Given the description of an element on the screen output the (x, y) to click on. 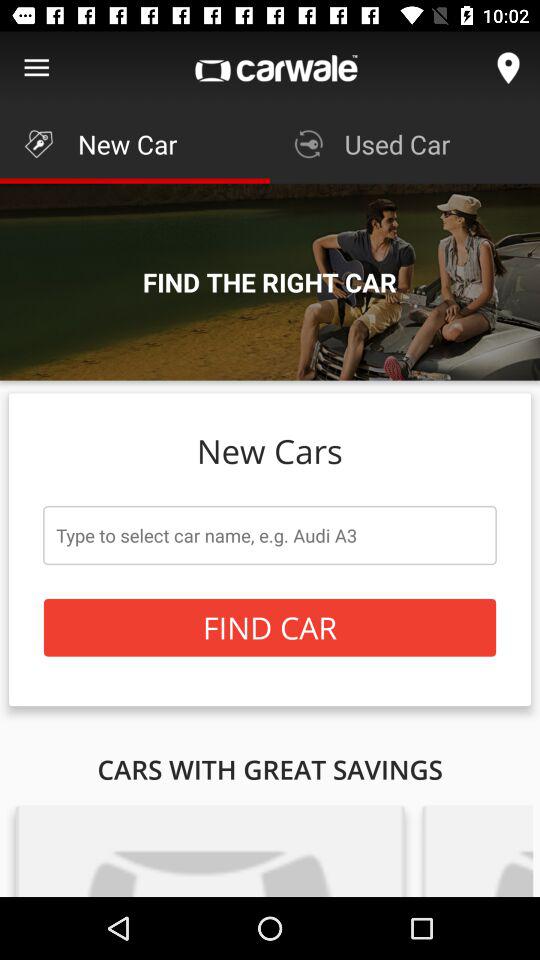
search bar (269, 535)
